Given the description of an element on the screen output the (x, y) to click on. 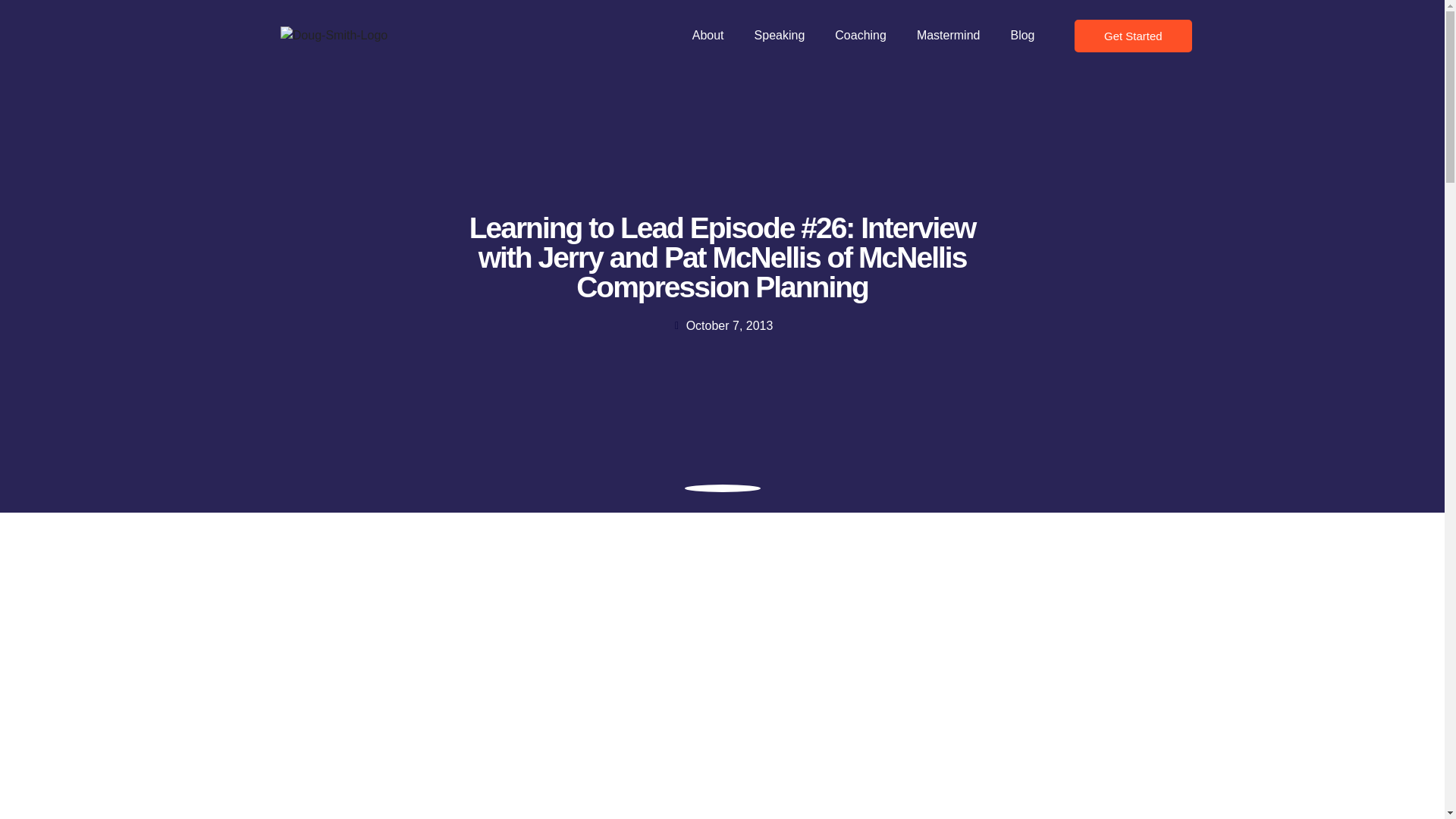
Speaking (780, 35)
Get Started (1133, 35)
Coaching (860, 35)
October 7, 2013 (722, 325)
Mastermind (948, 35)
Doug-Smith-Logo (334, 35)
About (708, 35)
Blog (1021, 35)
